Given the description of an element on the screen output the (x, y) to click on. 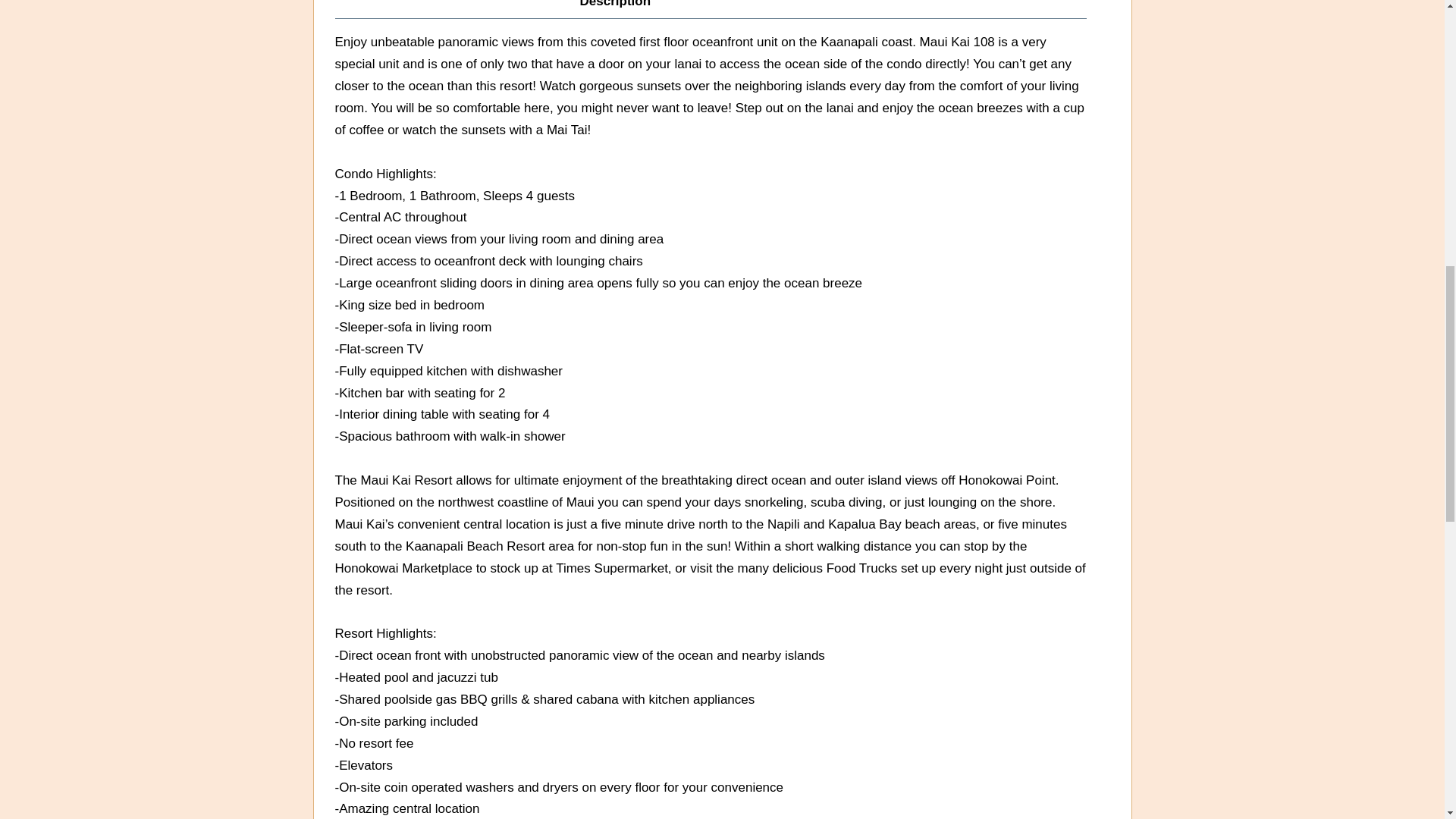
Map (758, 9)
Description (615, 9)
Reviews (698, 9)
Photos (815, 9)
